Given the description of an element on the screen output the (x, y) to click on. 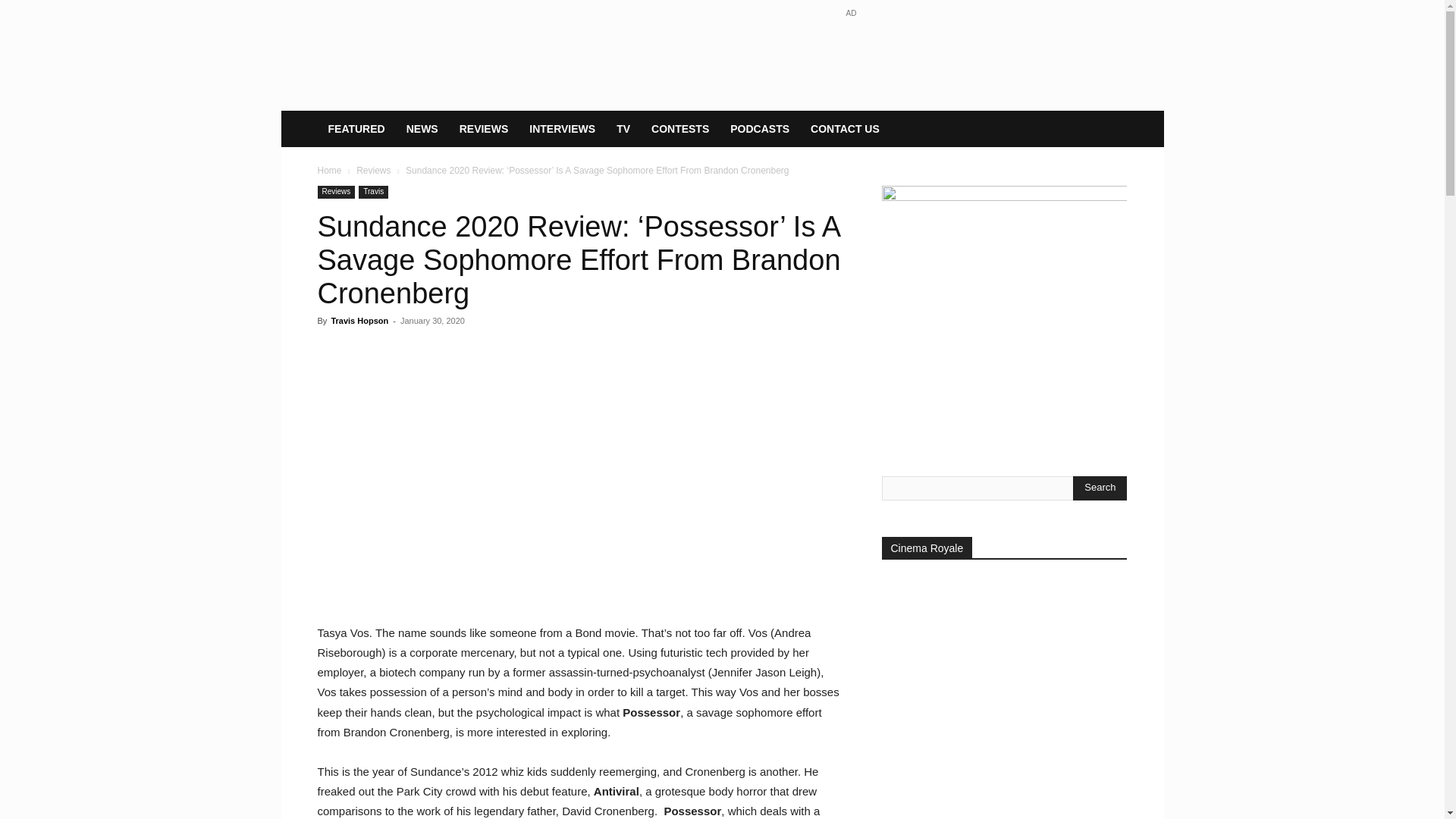
View all posts in Reviews (373, 170)
REVIEWS (483, 128)
FEATURED (355, 128)
Search (1099, 487)
NEWS (422, 128)
